Given the description of an element on the screen output the (x, y) to click on. 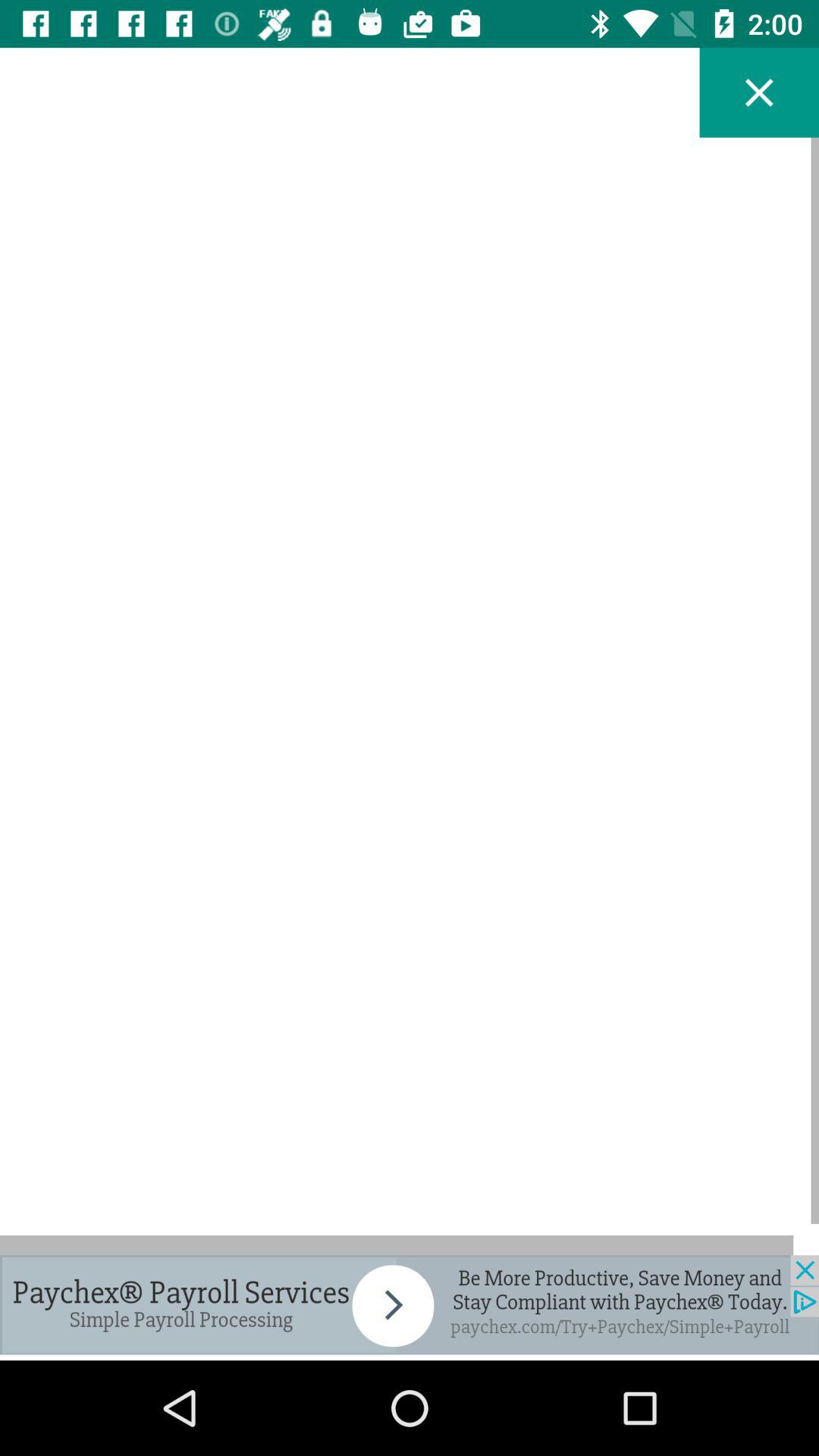
view advertisement (409, 1304)
